Given the description of an element on the screen output the (x, y) to click on. 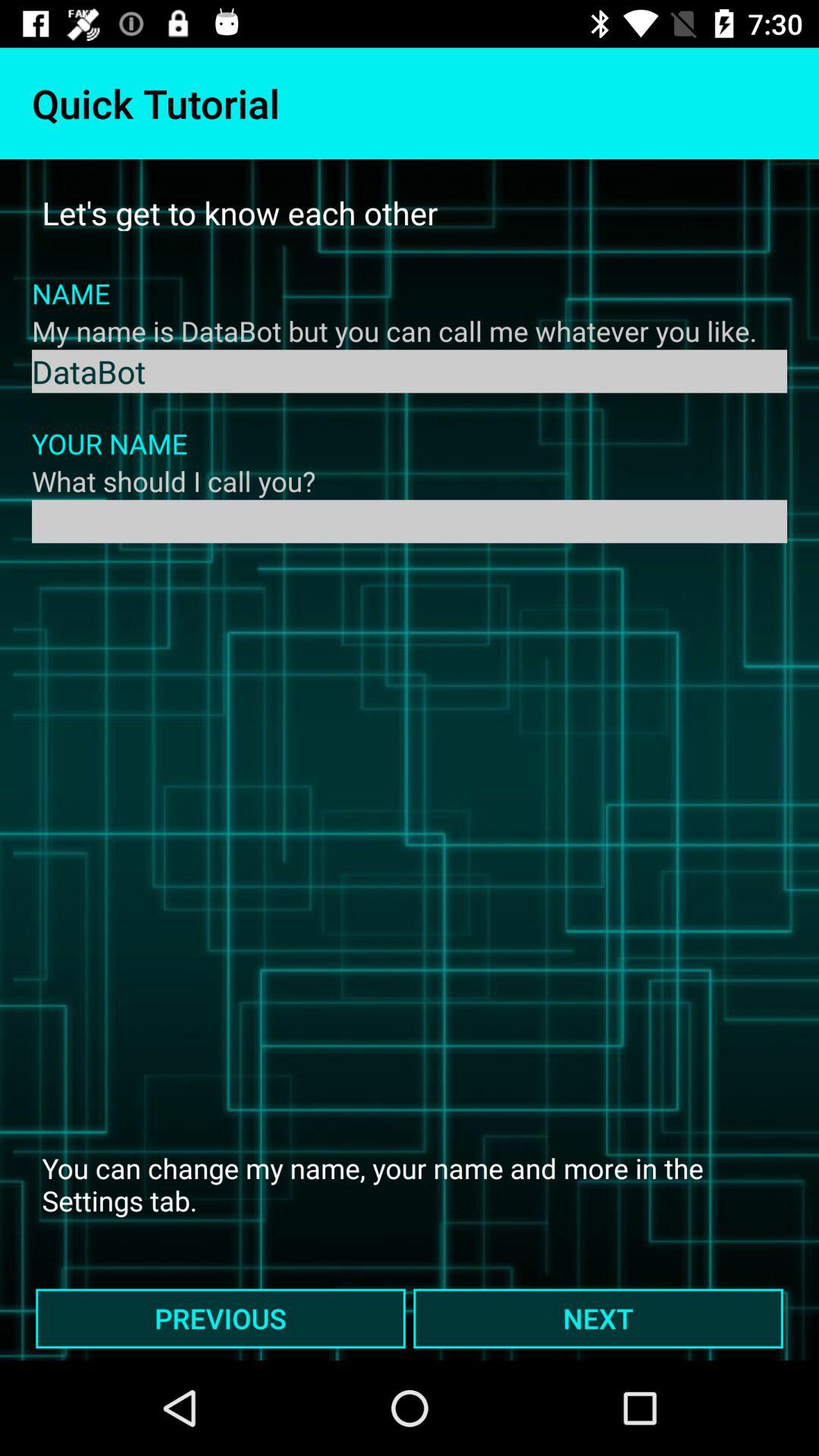
enter your name (409, 521)
